Given the description of an element on the screen output the (x, y) to click on. 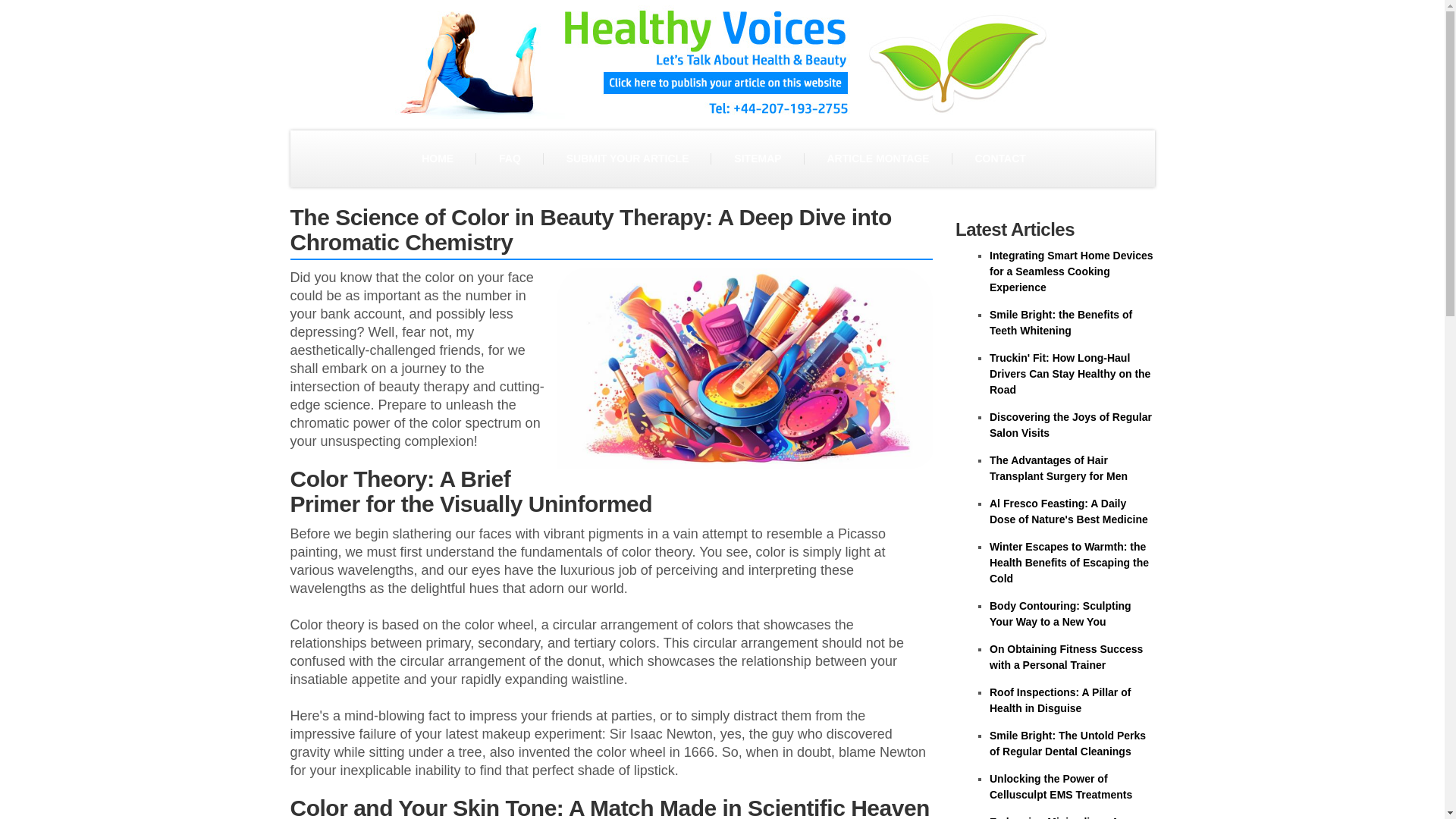
Smile Bright: the Benefits of Teeth Whitening (1061, 322)
Smile Bright: The Untold Perks of Regular Dental Cleanings (1067, 743)
CONTACT (1000, 158)
Embracing Minimalism: A Recipe for a Spacious Kitchen (1066, 817)
Al Fresco Feasting: A Daily Dose of Nature's Best Medicine (1069, 511)
HOME (437, 158)
Unlocking the Power of Cellusculpt EMS Treatments (1061, 786)
Discovering the Joys of Regular Salon Visits (1070, 424)
Body Contouring: Sculpting Your Way to a New You (1060, 613)
FAQ (509, 158)
SITEMAP (757, 158)
ARTICLE MONTAGE (877, 158)
